Given the description of an element on the screen output the (x, y) to click on. 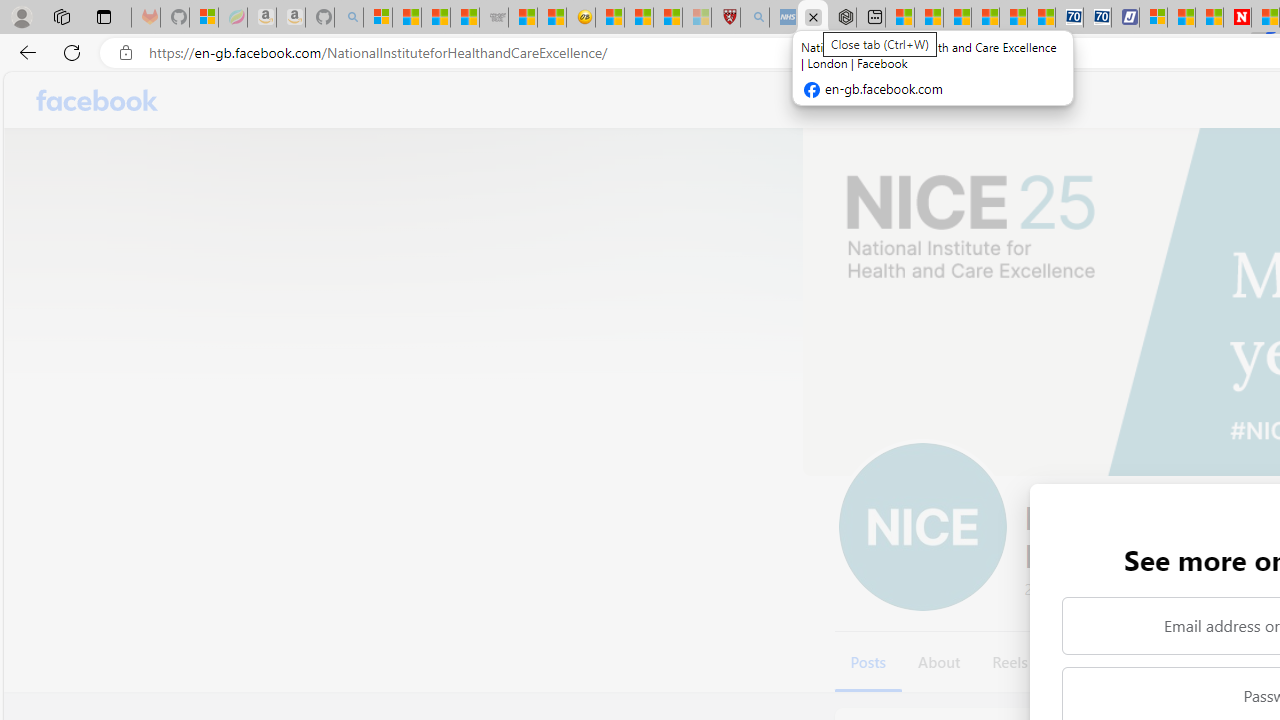
12 Popular Science Lies that Must be Corrected - Sleeping (696, 17)
Cheap Hotels - Save70.com (1097, 17)
